Given the description of an element on the screen output the (x, y) to click on. 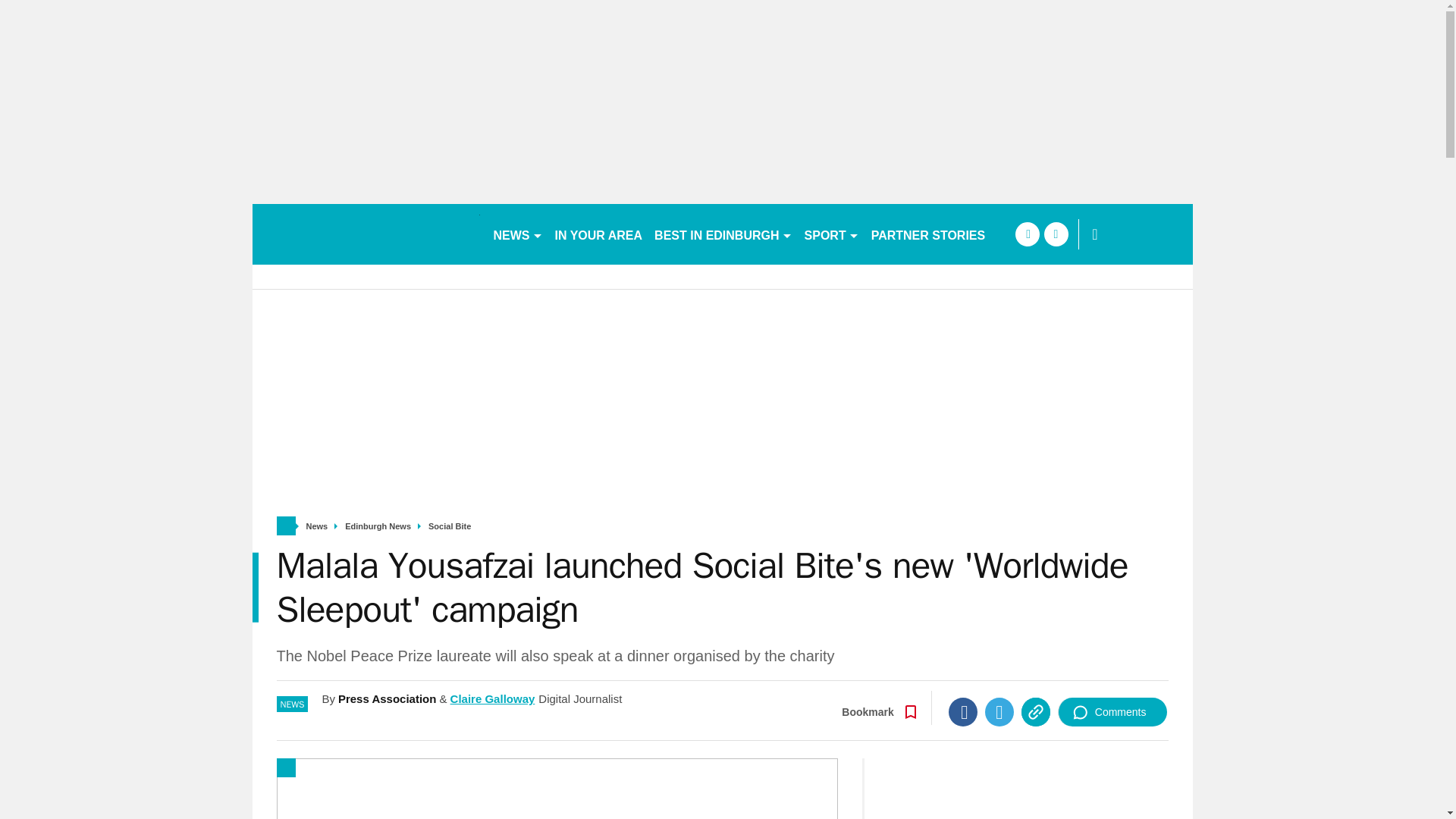
Comments (1112, 711)
NEWS (517, 233)
PARTNER STORIES (927, 233)
VOUCHER CODES (1056, 233)
BEST IN EDINBURGH (722, 233)
Twitter (999, 711)
SPORT (830, 233)
edinburghlive (365, 233)
IN YOUR AREA (598, 233)
twitter (1055, 233)
facebook (1026, 233)
Facebook (962, 711)
